Given the description of an element on the screen output the (x, y) to click on. 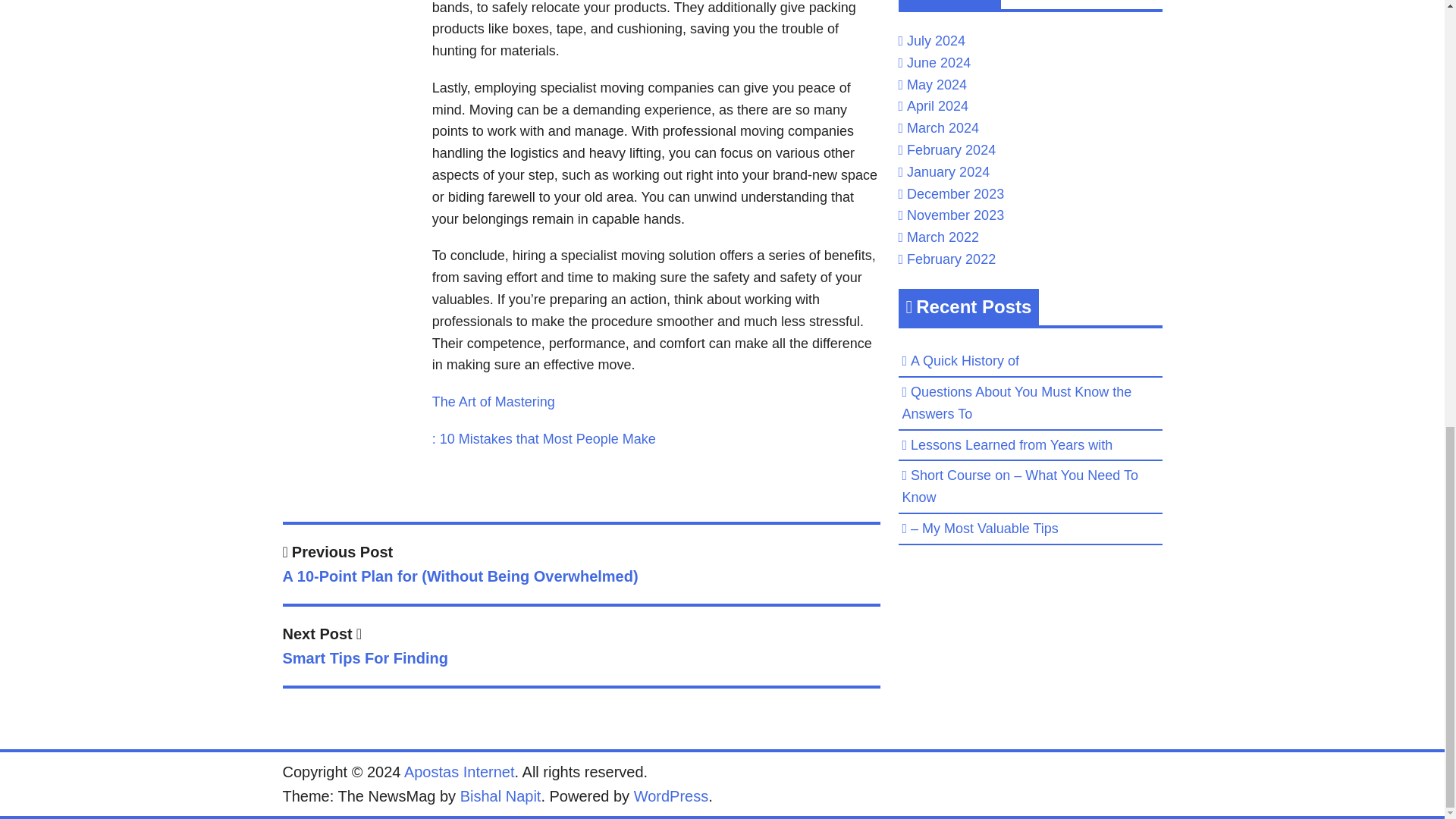
The Art of Mastering (581, 648)
: 10 Mistakes that Most People Make (493, 401)
Apostas Internet (544, 438)
WordPress (459, 771)
Bishal Napit (671, 795)
